Given the description of an element on the screen output the (x, y) to click on. 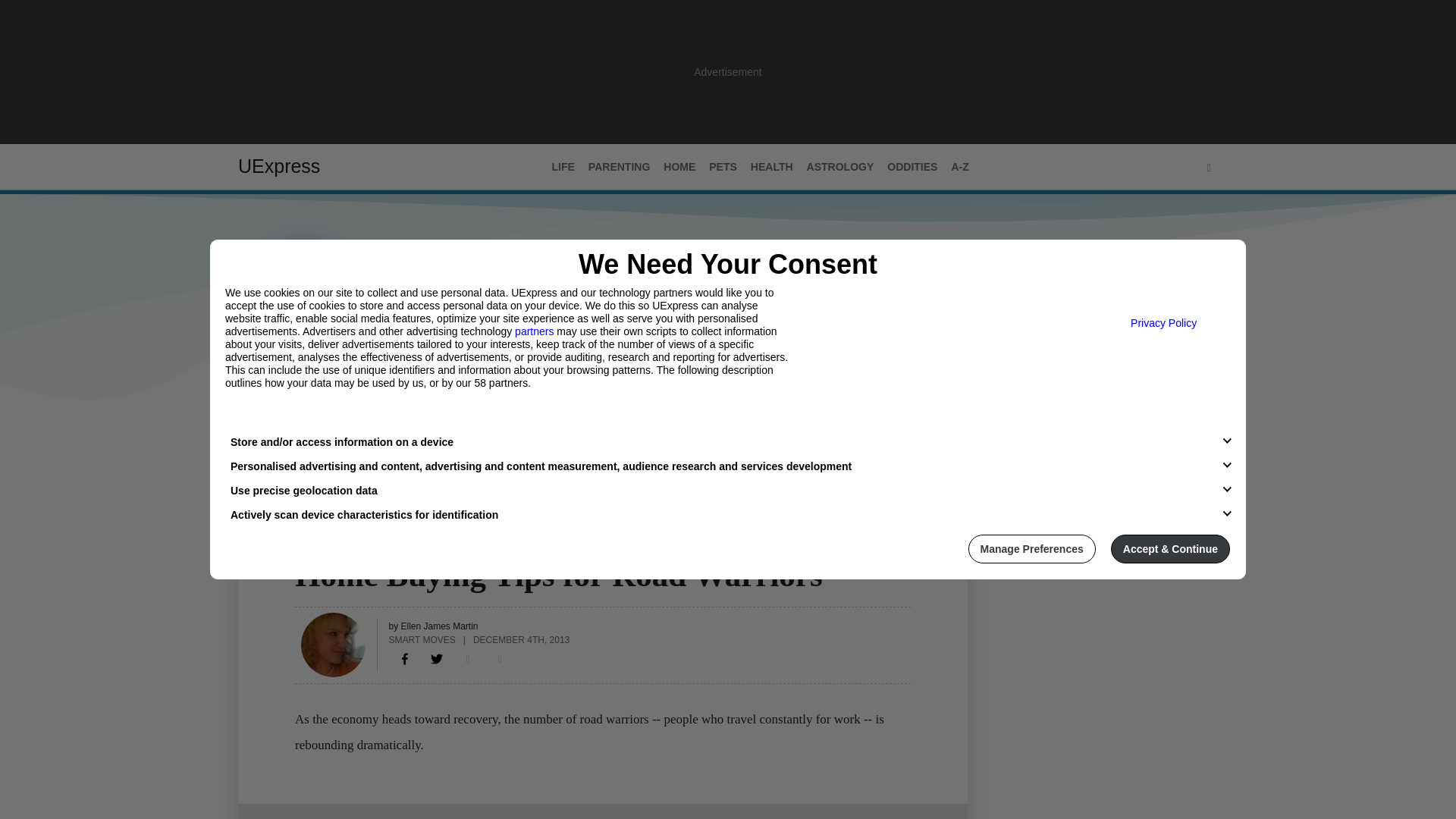
Latest (256, 431)
UExpress (279, 166)
About (309, 431)
HOME (678, 166)
Archives (371, 431)
ASTROLOGY (839, 166)
HEALTH (771, 166)
LIFE (562, 166)
A-Z (959, 166)
PETS (722, 166)
PARENTING (618, 166)
HOME (310, 545)
SMART MOVES (421, 639)
Home Buying Tips for Road Warriors (404, 658)
ODDITIES (911, 166)
